Given the description of an element on the screen output the (x, y) to click on. 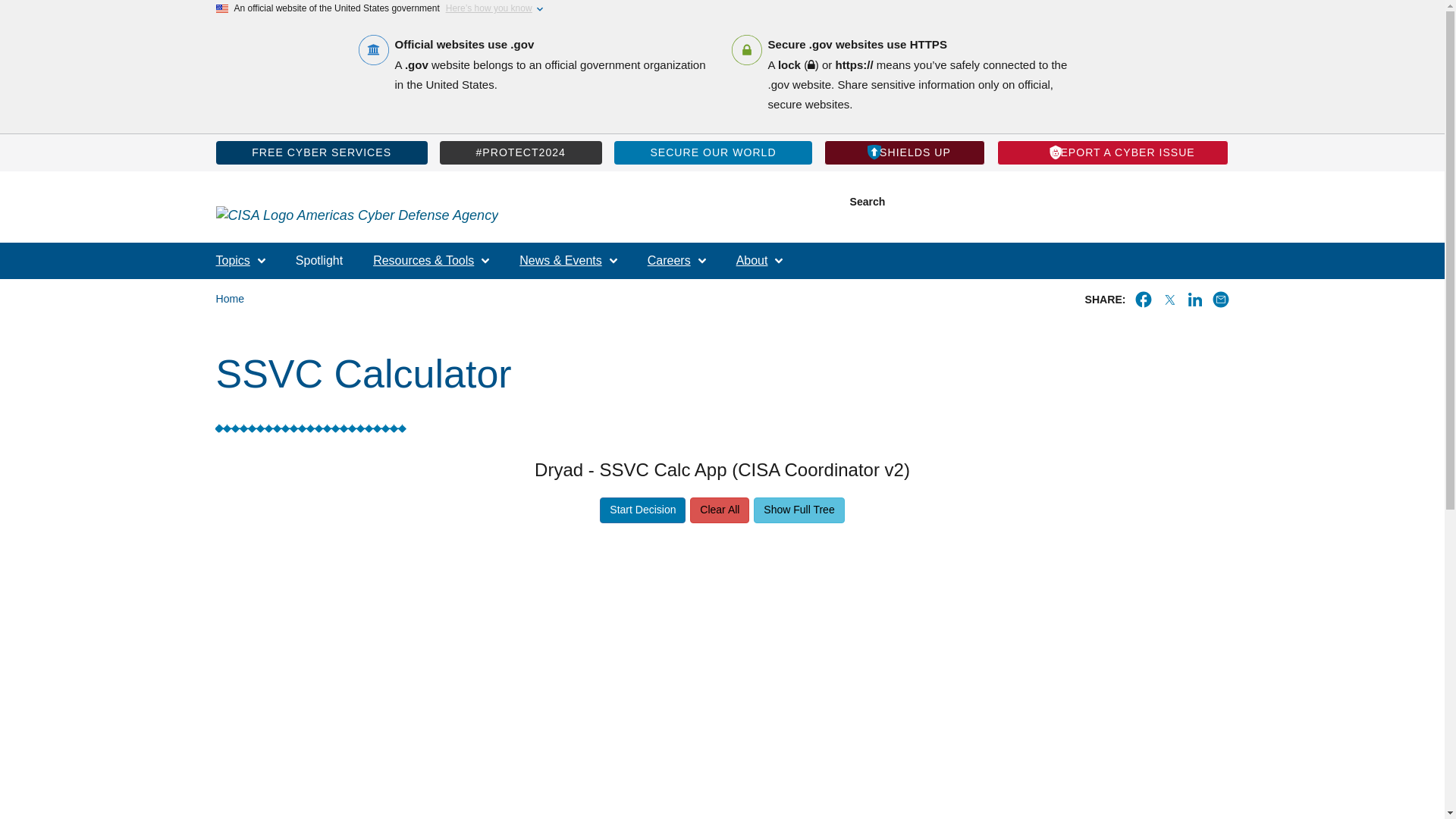
Show Full Tree (799, 510)
Share to Facebook (1142, 299)
Start walking the SSVC decision tree (642, 510)
SECURE OUR WORLD (713, 152)
Share to X (1168, 299)
Careers (676, 260)
FREE CYBER SERVICES (320, 152)
Explore the full decision tree of this SSVC Instance (799, 510)
Free Cyber Services (320, 152)
Topics (239, 260)
Spotlight (318, 260)
About (759, 260)
Clear all decisions and start over (719, 510)
SHIELDS UP (904, 152)
Skip to main content (721, 12)
